Given the description of an element on the screen output the (x, y) to click on. 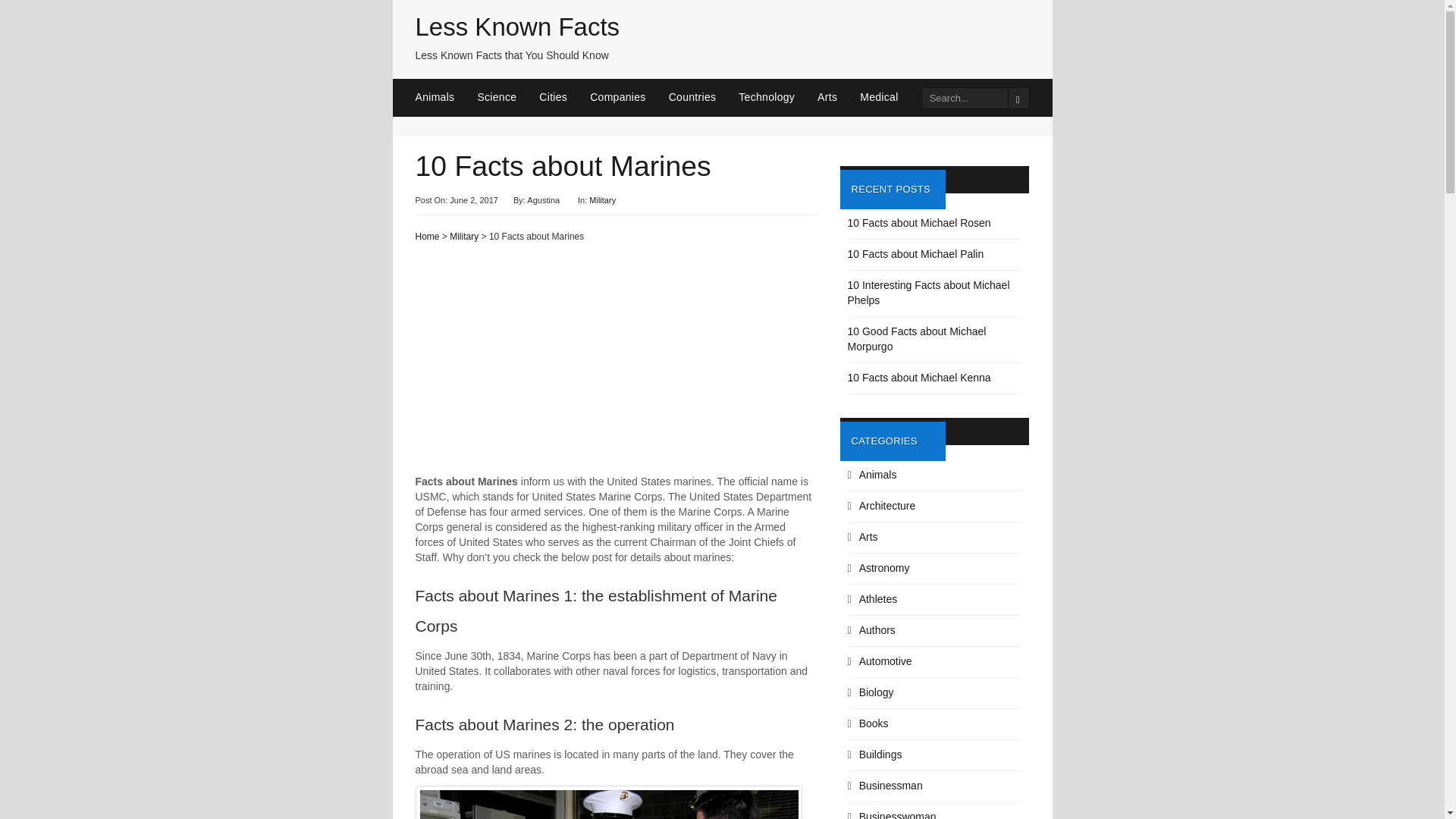
People (949, 96)
Cities (563, 96)
Arts (868, 536)
Advertisement (615, 364)
Architecture (887, 505)
Technology (777, 96)
10 Interesting Facts about Michael Phelps (928, 292)
Search (1018, 97)
Animals (445, 96)
Countries (703, 96)
